Given the description of an element on the screen output the (x, y) to click on. 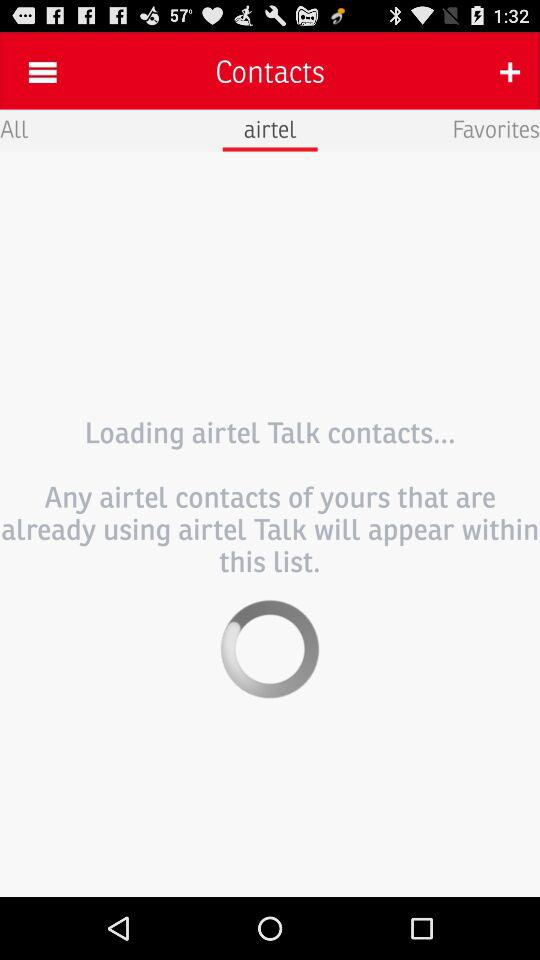
flip until the favorites item (496, 128)
